Given the description of an element on the screen output the (x, y) to click on. 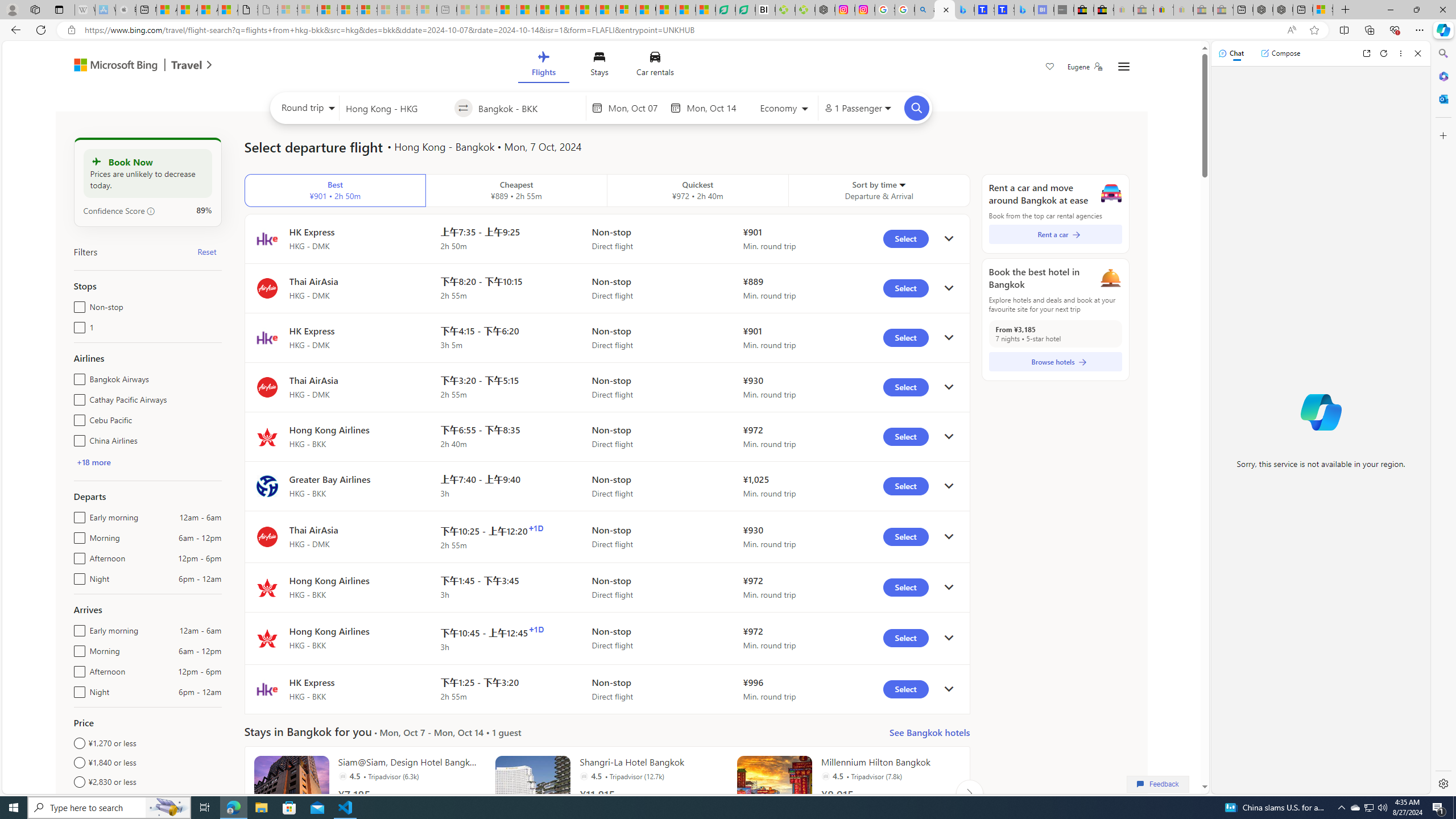
Threats and offensive language policy | eBay (1162, 9)
Nvidia va a poner a prueba la paciencia de los inversores (765, 9)
Class: msft-bing-logo msft-bing-logo-desktop (112, 64)
Eugene (1084, 66)
Microsoft Bing Travel - Shangri-La Hotel Bangkok (1024, 9)
Descarga Driver Updater (804, 9)
